Given the description of an element on the screen output the (x, y) to click on. 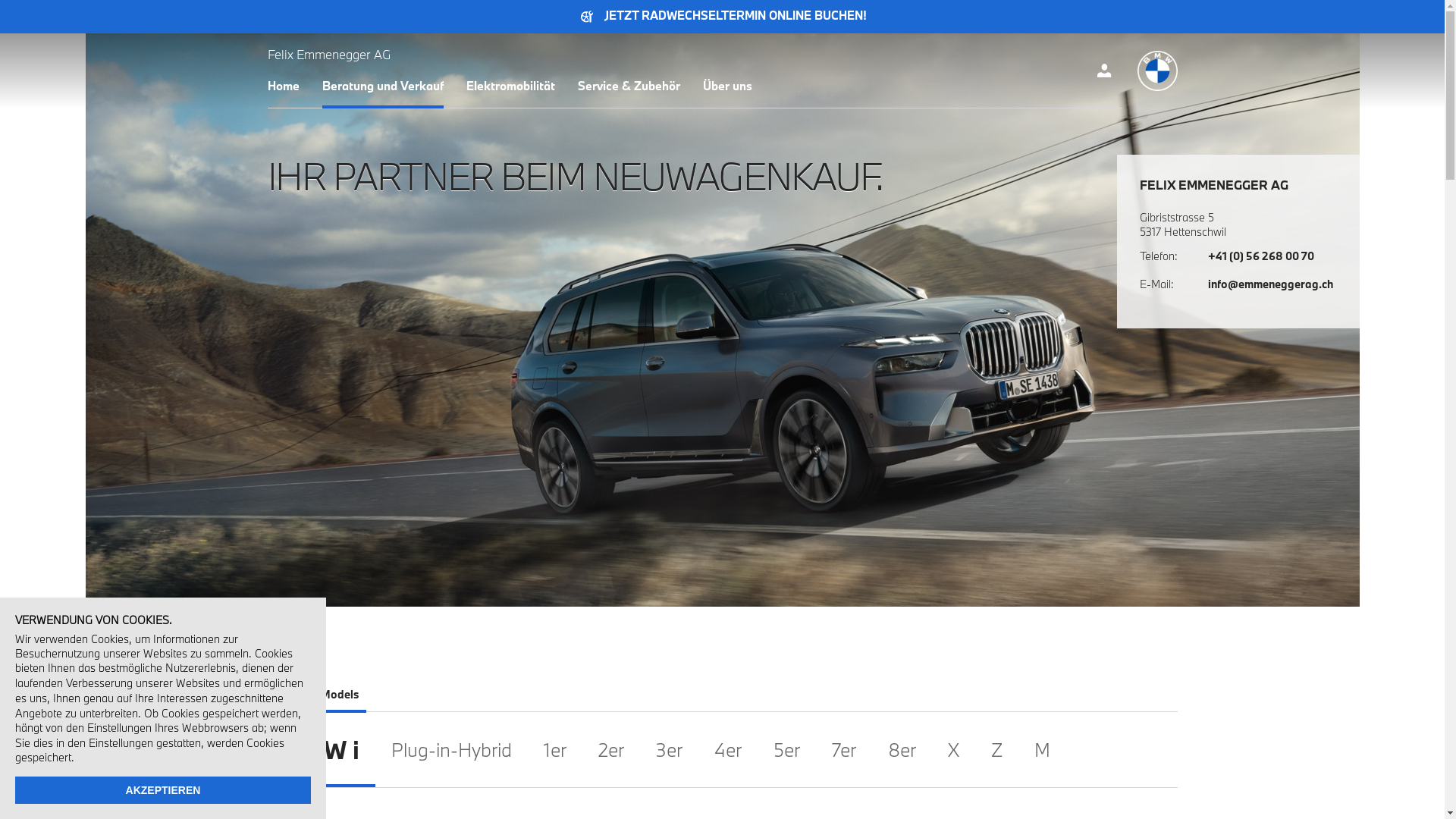
4er Element type: text (726, 749)
Shopping Tool Element type: text (1103, 70)
M Element type: text (1041, 749)
BMW i Element type: text (320, 749)
Plug-in-Hybrid Element type: text (450, 749)
Z Element type: text (996, 749)
info@emmeneggerag.ch Element type: text (1271, 283)
7er Element type: text (843, 749)
3er Element type: text (669, 749)
Home Element type: hover (1157, 70)
5er Element type: text (785, 749)
X Element type: text (952, 749)
8er Element type: text (901, 749)
Beratung und Verkauf Element type: text (381, 84)
AKZEPTIEREN Element type: text (162, 789)
2er Element type: text (611, 749)
Home Element type: text (282, 84)
+41 (0) 56 268 00 70 Element type: text (1271, 255)
Skip to main content Element type: text (0, 0)
1er Element type: text (554, 749)
